Given the description of an element on the screen output the (x, y) to click on. 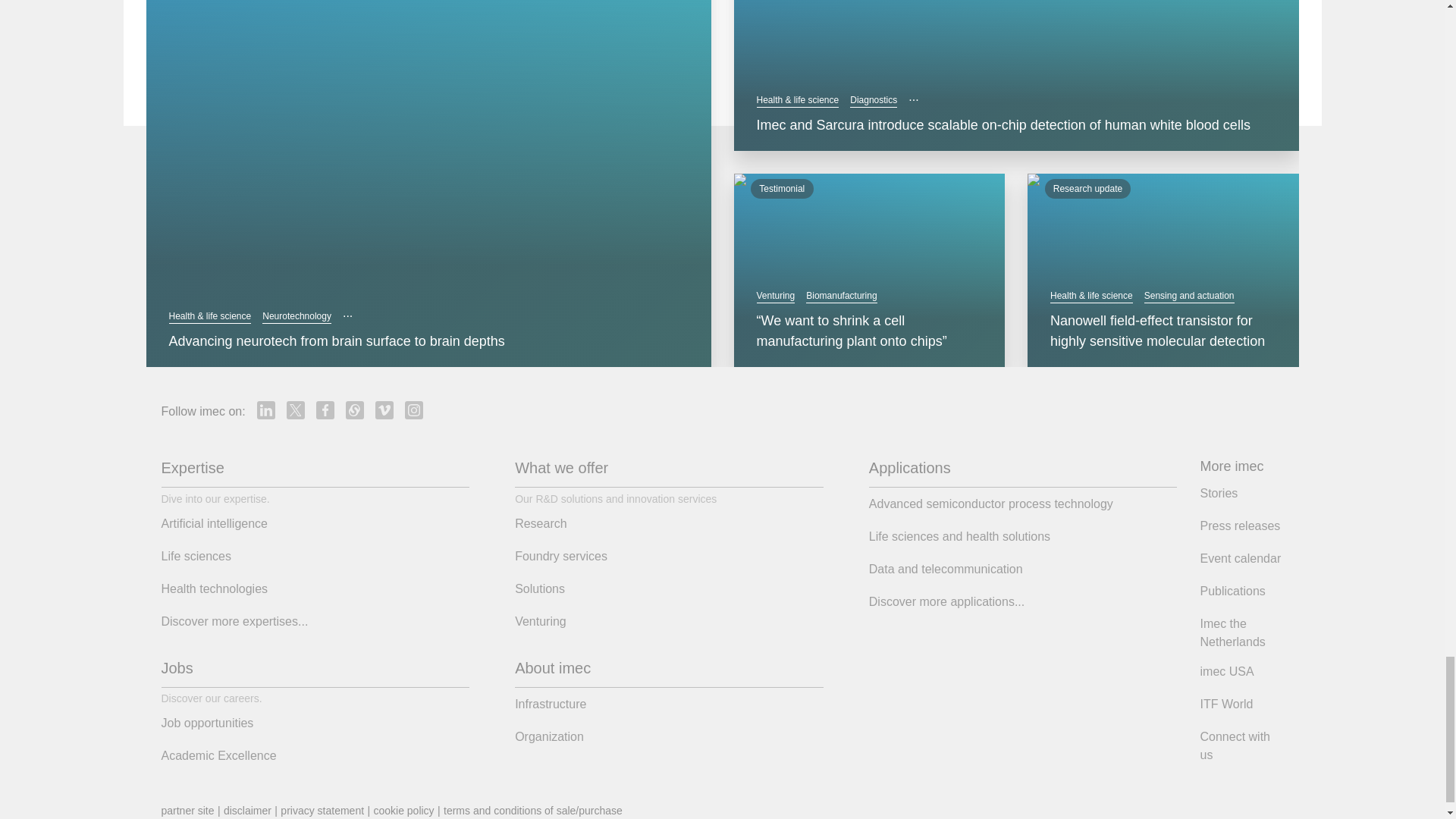
Advancing neurotech from brain surface to brain depths (427, 341)
Sensing and actuation (1189, 296)
Swivle (355, 410)
Venturing (775, 296)
Neurotechnology (296, 316)
X (295, 410)
LinkedIn (266, 410)
Diagnostics (873, 100)
Instagram (413, 410)
Facebook (324, 410)
Vimeo (384, 410)
Biomanufacturing (841, 296)
